Given the description of an element on the screen output the (x, y) to click on. 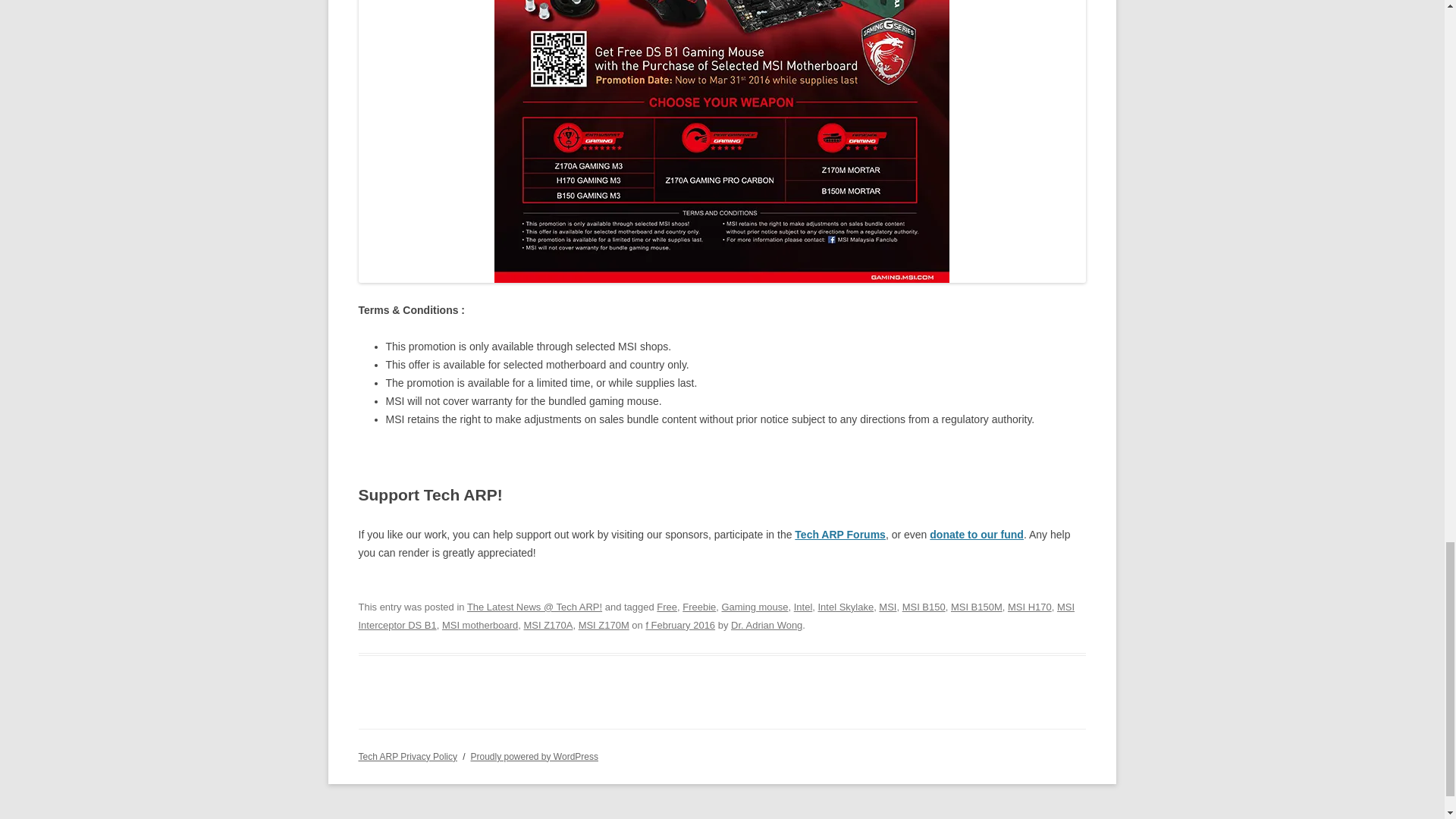
MSI (887, 606)
Intel (802, 606)
MSI Interceptor DS B1 (716, 615)
MSI B150M (976, 606)
Intel Skylake (846, 606)
Dr. Adrian Wong (766, 624)
Freebie (699, 606)
Tech ARP Forums (839, 534)
MSI H170 (1029, 606)
Semantic Personal Publishing Platform (534, 756)
